Given the description of an element on the screen output the (x, y) to click on. 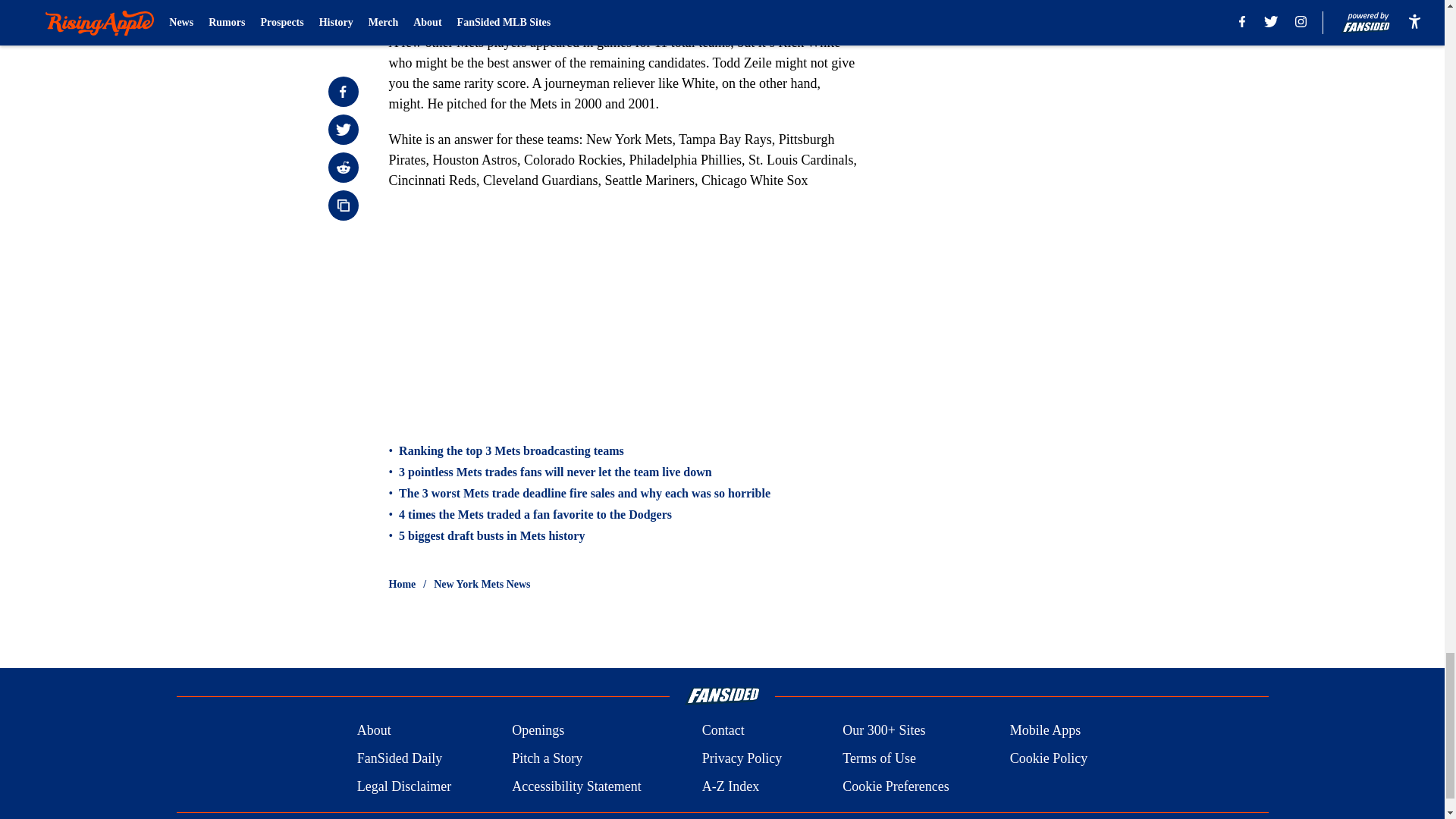
FanSided Daily (399, 758)
5 biggest draft busts in Mets history (491, 535)
New York Mets News (481, 584)
4 times the Mets traded a fan favorite to the Dodgers (534, 514)
Privacy Policy (742, 758)
Mobile Apps (1045, 730)
Terms of Use (879, 758)
Contact (722, 730)
